Given the description of an element on the screen output the (x, y) to click on. 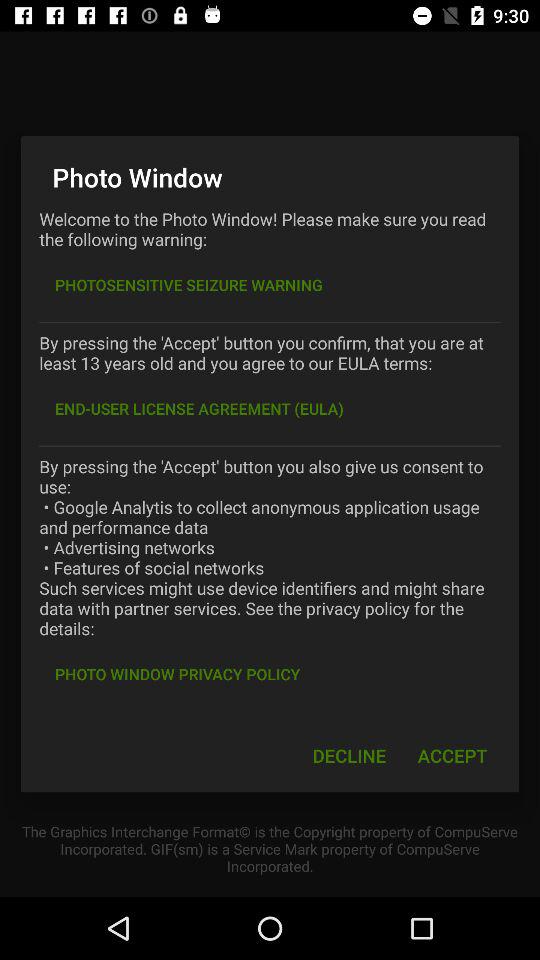
choose the decline (349, 755)
